Given the description of an element on the screen output the (x, y) to click on. 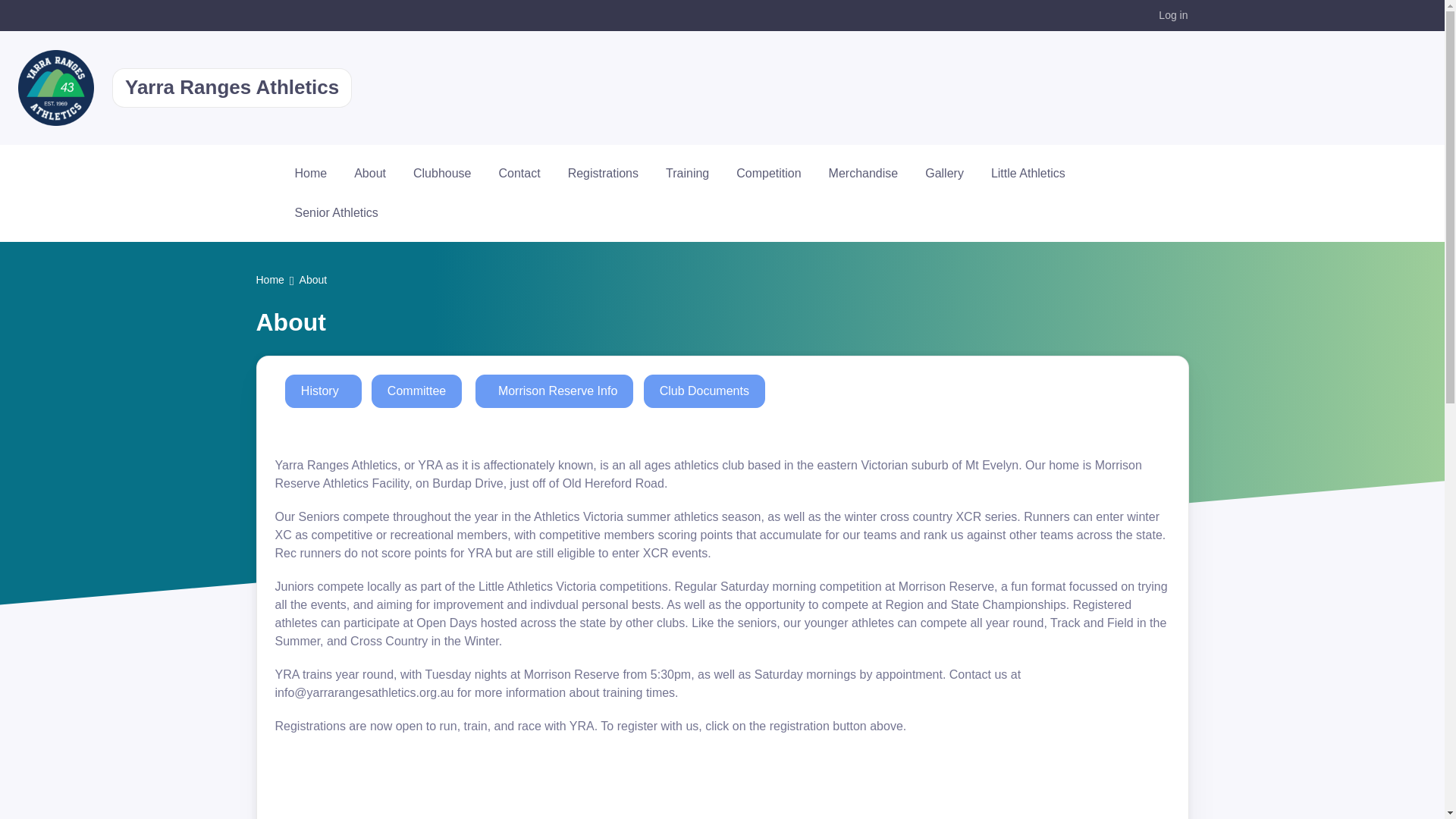
Training (687, 173)
Log in (1172, 15)
Contact (519, 173)
Gallery (943, 173)
About (369, 173)
Clubhouse (441, 173)
Home (310, 173)
Little Athletics (1027, 173)
Registrations (603, 173)
Competition (767, 173)
